Given the description of an element on the screen output the (x, y) to click on. 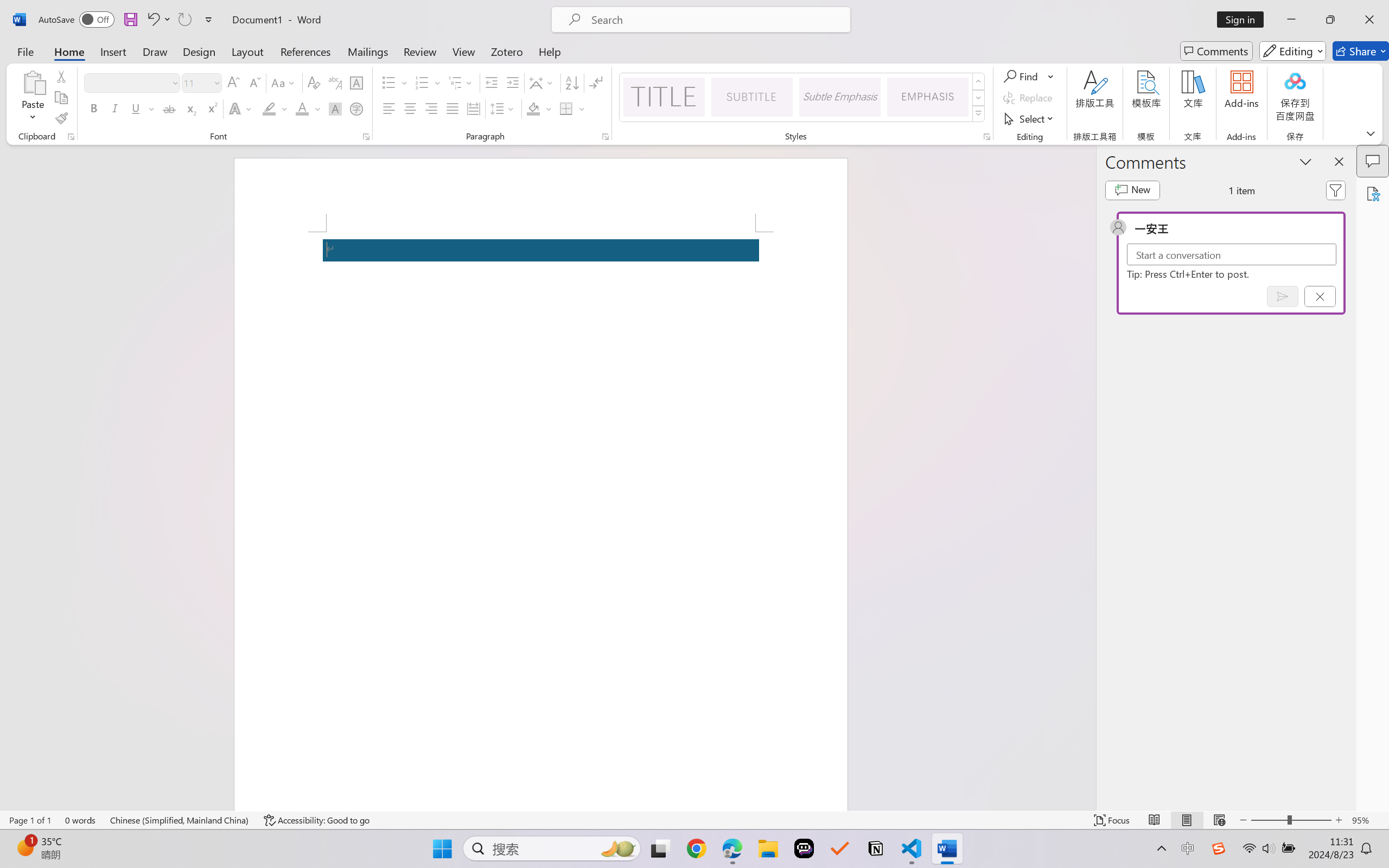
Shading No Color (533, 108)
Cancel (1320, 296)
